Given the description of an element on the screen output the (x, y) to click on. 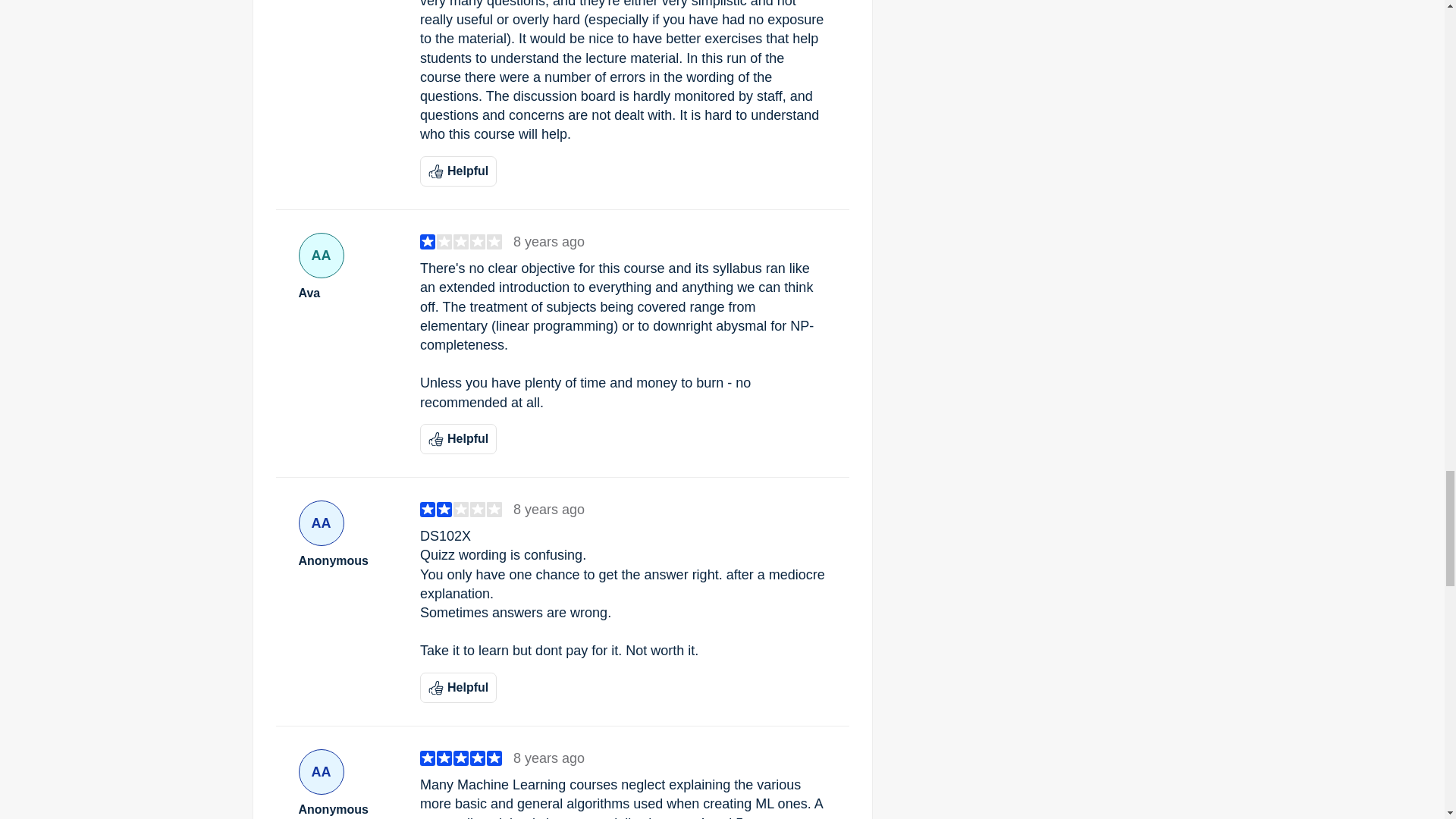
Anonymous (347, 809)
Ava (347, 293)
Anonymous (347, 560)
